Given the description of an element on the screen output the (x, y) to click on. 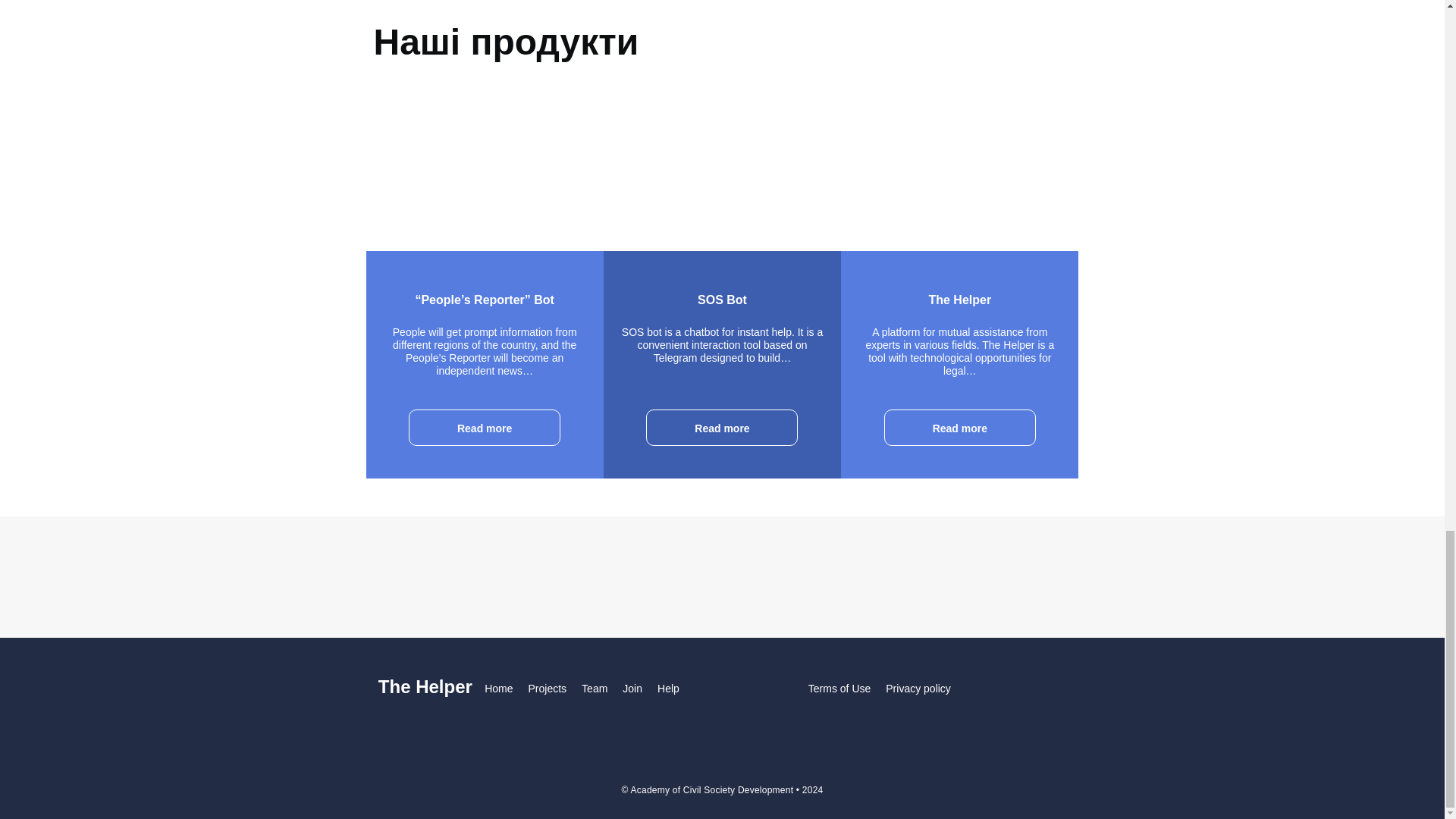
Projects (547, 688)
Read more (721, 427)
Privacy policy (917, 688)
Read more (959, 427)
Join (632, 688)
Terms of Use (839, 688)
Home (498, 688)
Read more (484, 427)
Help (668, 688)
Team (593, 688)
